Given the description of an element on the screen output the (x, y) to click on. 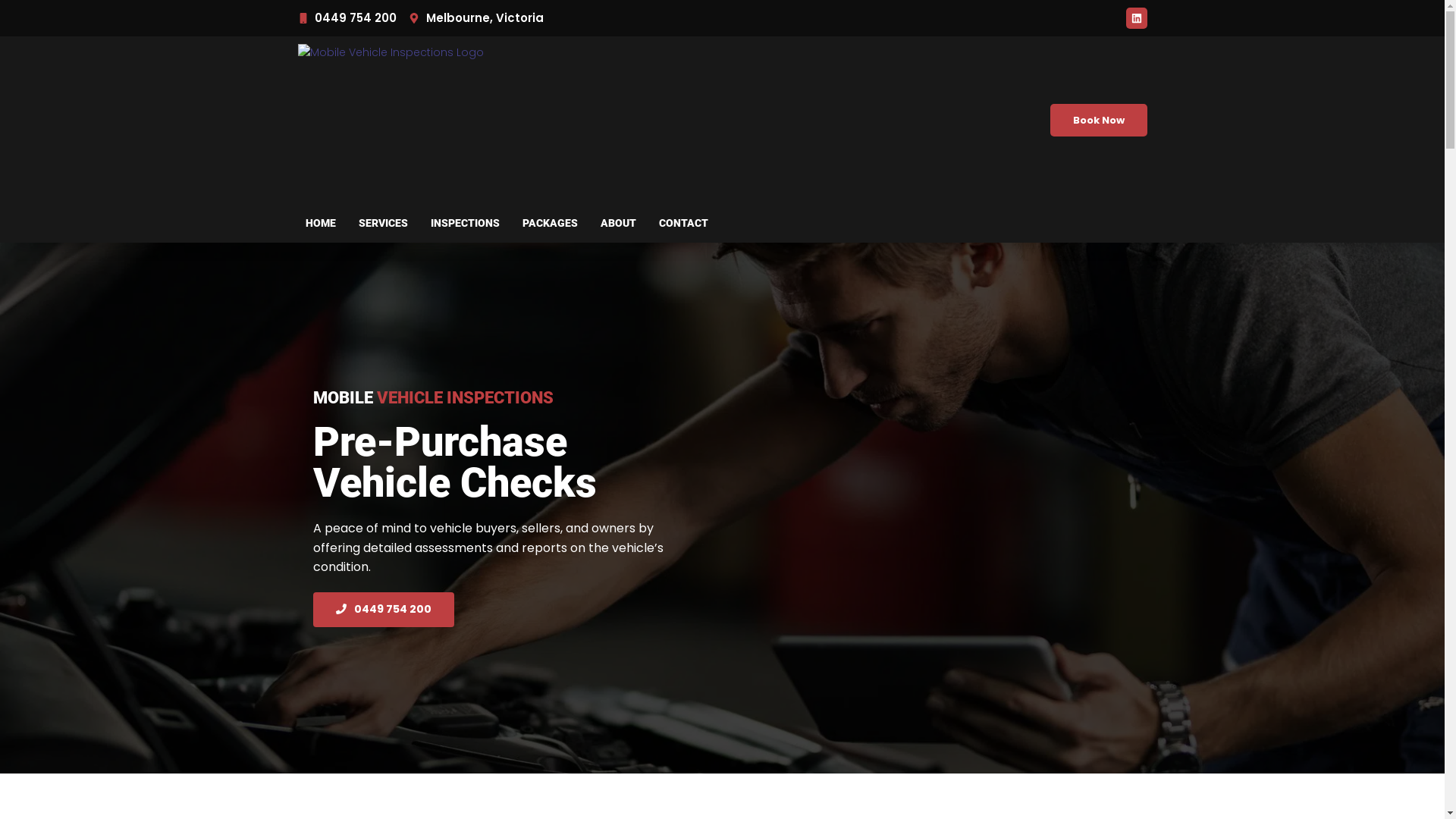
SERVICES Element type: text (383, 222)
Book Now Element type: text (1097, 119)
0449 754 200 Element type: text (346, 18)
0449 754 200 Element type: text (382, 609)
ABOUT Element type: text (617, 222)
HOME Element type: text (320, 222)
INSPECTIONS Element type: text (464, 222)
PACKAGES Element type: text (550, 222)
CONTACT Element type: text (683, 222)
